Given the description of an element on the screen output the (x, y) to click on. 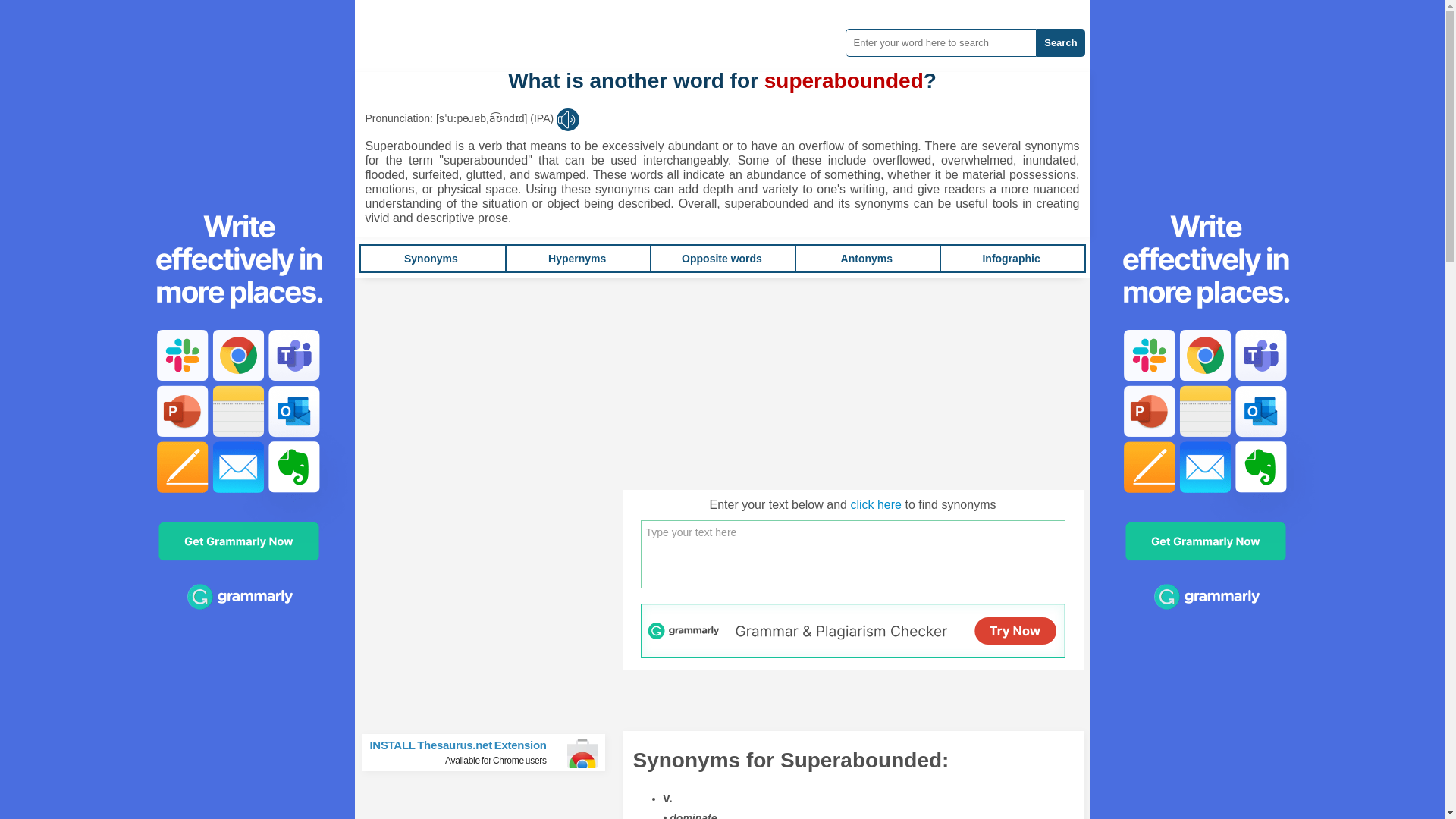
Search (489, 752)
Infographic (1060, 42)
click here (1010, 258)
Infographic (875, 504)
Hypernyms (1010, 258)
Antonyms (576, 258)
Opposite words (866, 258)
Synonyms (721, 258)
Opposite words (431, 258)
